Given the description of an element on the screen output the (x, y) to click on. 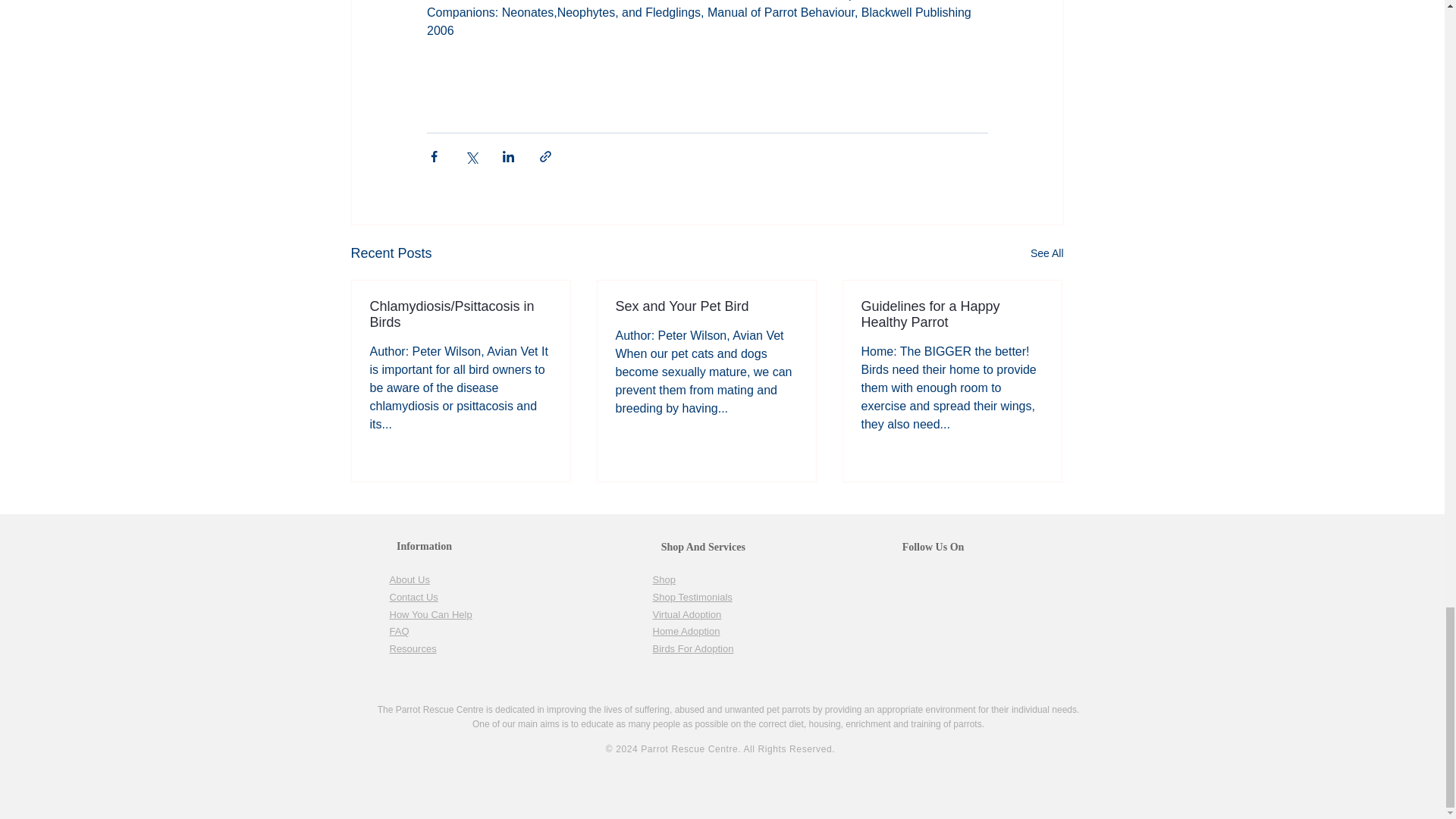
About Us (409, 579)
Home Adoption (685, 631)
Virtual Adoption (686, 613)
Birds For Adoption (692, 648)
Resources (413, 648)
Sex and Your Pet Bird (706, 306)
Shop Testimonials (692, 596)
Shop (663, 579)
Contact Us (414, 596)
FAQ (399, 631)
